Given the description of an element on the screen output the (x, y) to click on. 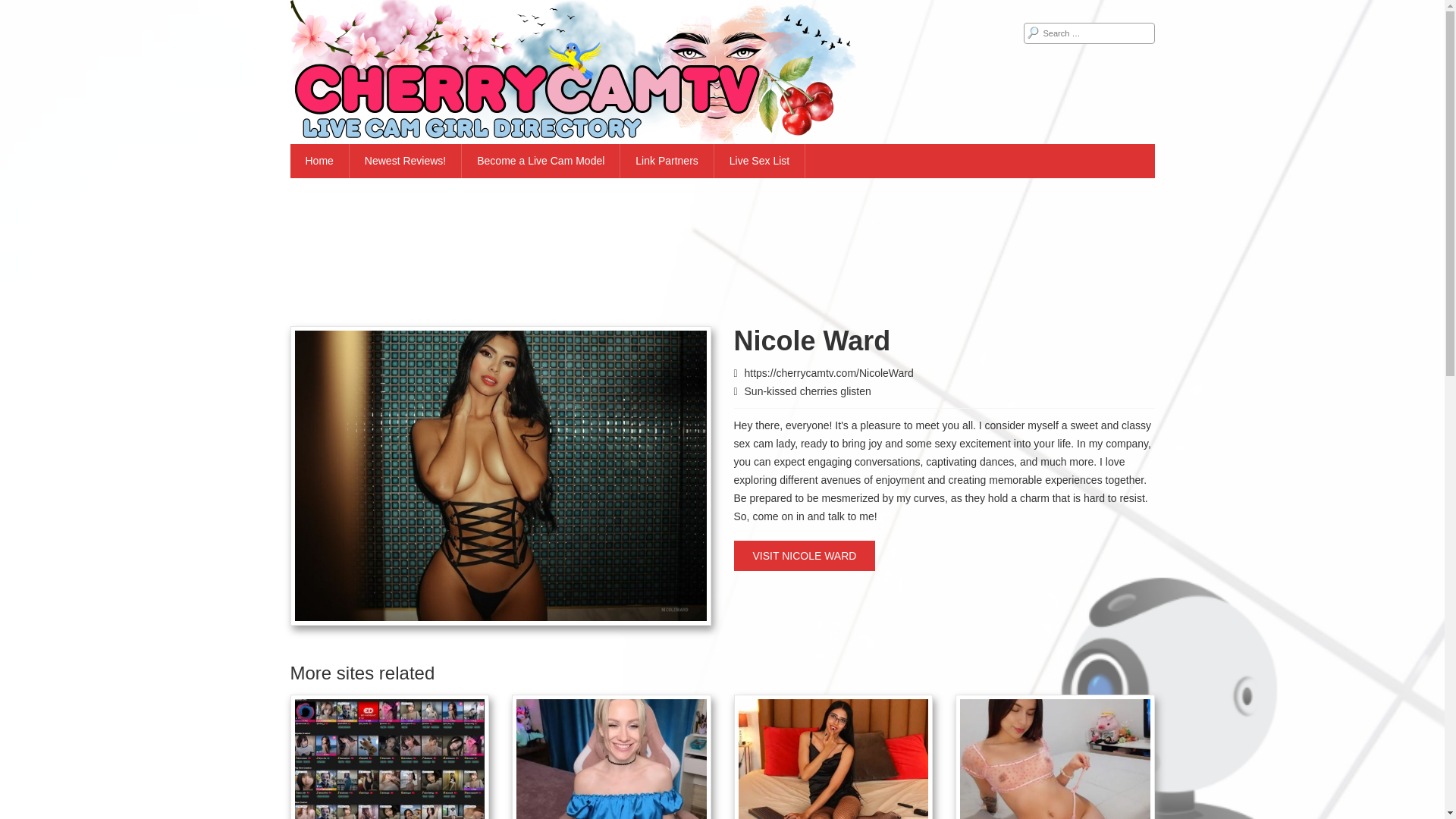
VISIT NICOLE WARD (804, 555)
Become a Live Cam Model (540, 161)
Live Sex List (759, 161)
Link Partners (666, 161)
Search (22, 9)
Newest Reviews! (405, 161)
Home (319, 161)
Sun-kissed cherries glisten (807, 390)
